Given the description of an element on the screen output the (x, y) to click on. 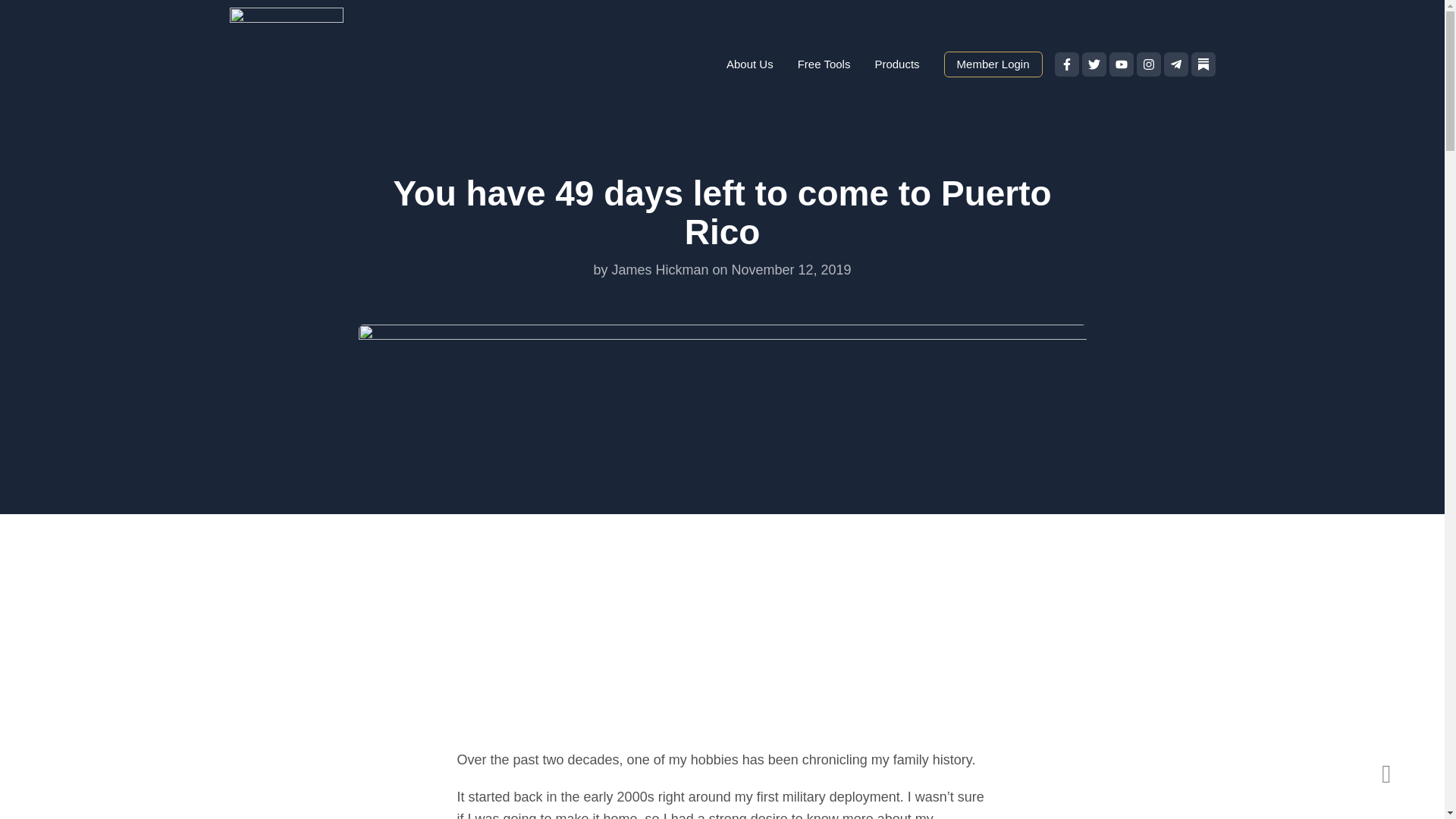
Free Tools (824, 64)
Member Login (992, 63)
Products (896, 64)
About Us (750, 64)
